Given the description of an element on the screen output the (x, y) to click on. 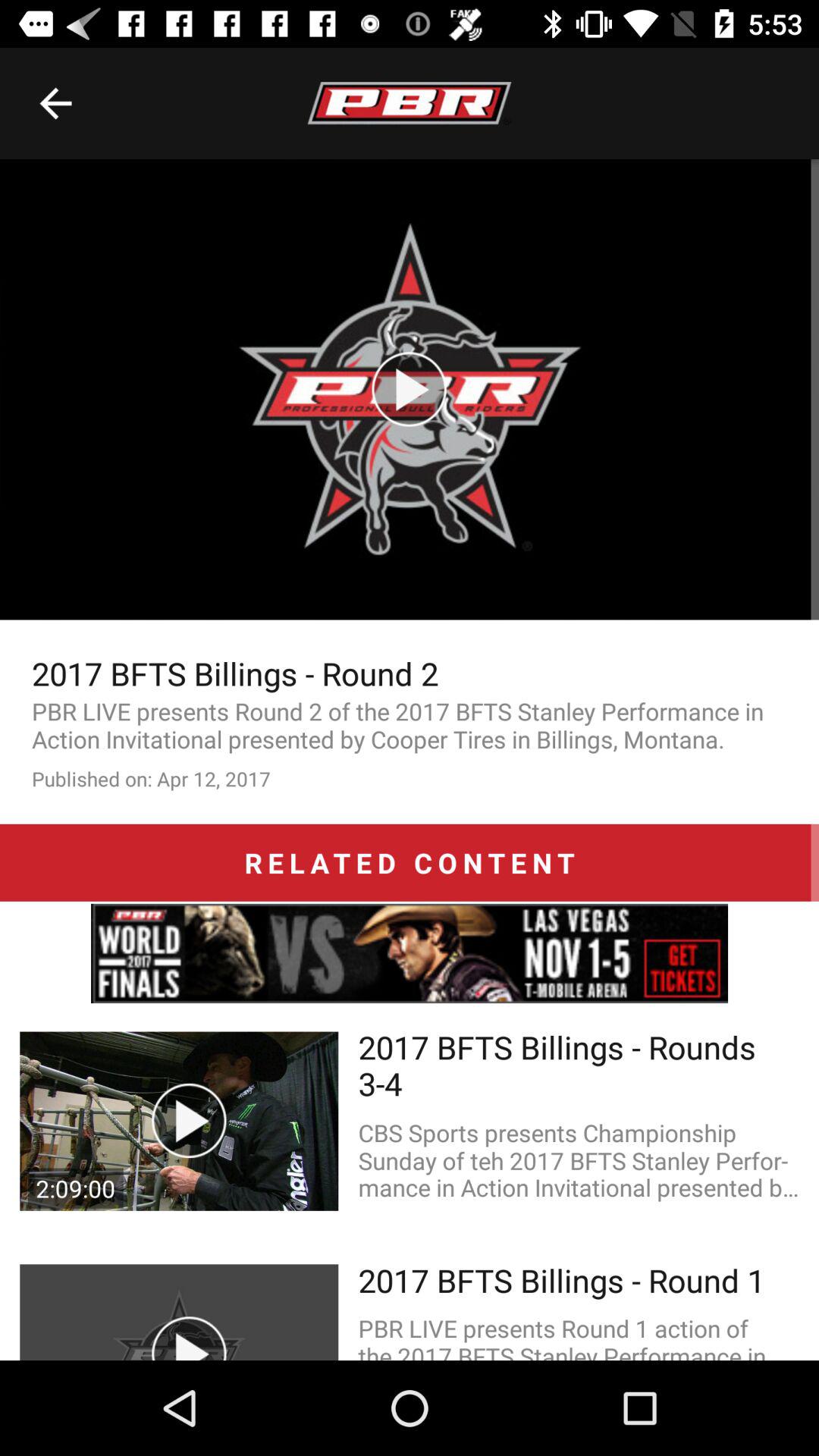
in app advertisement (409, 953)
